Given the description of an element on the screen output the (x, y) to click on. 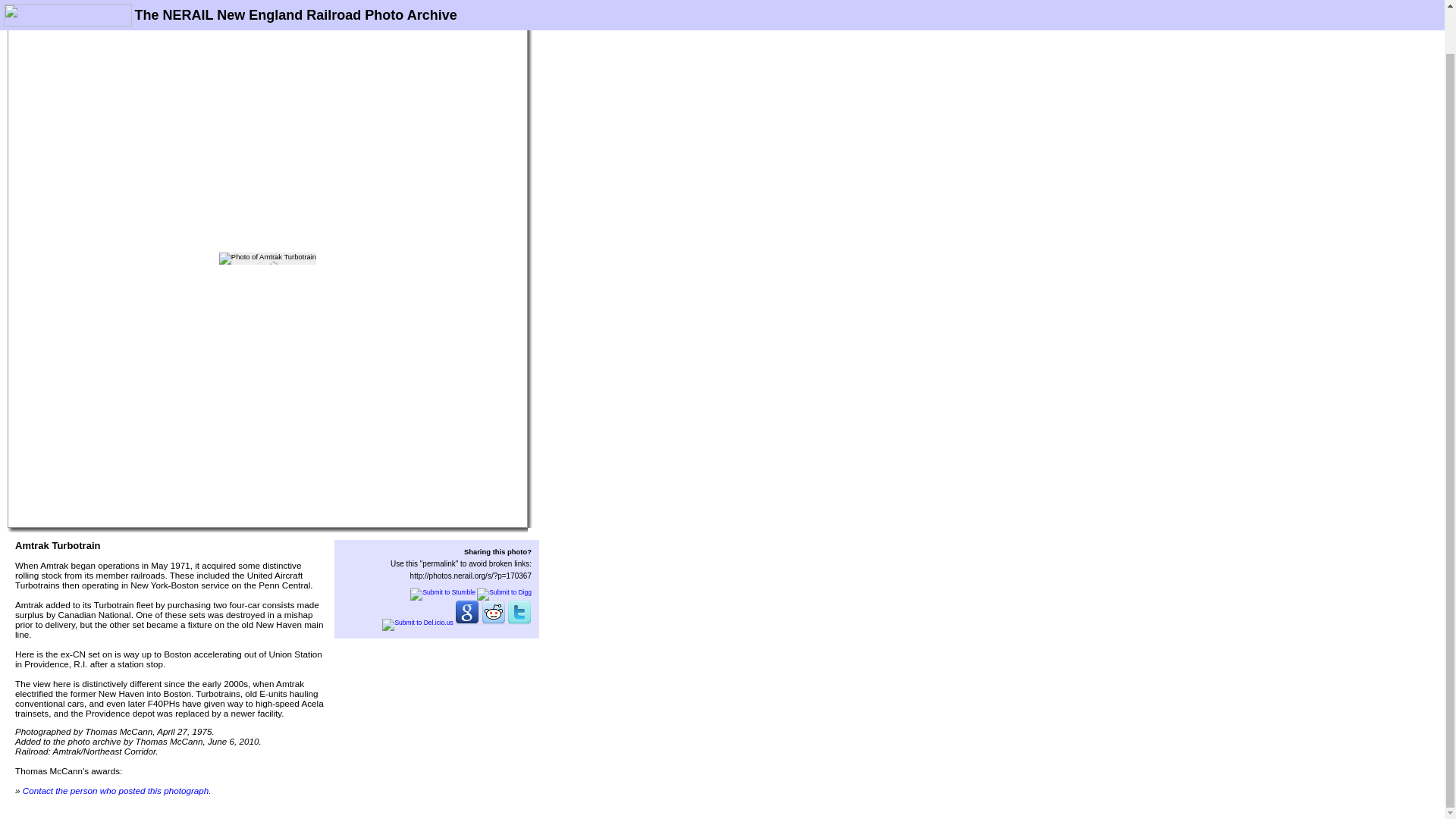
Submit to Reddit (493, 622)
Submit to Digg (504, 592)
Submit to Google Bookmarks (466, 622)
Contact the person who posted this photograph (116, 790)
Twit This (518, 622)
Submit to Del.icio.us (416, 622)
Railroad: Amtrak Turbotrain (267, 258)
Submit to Stumble (442, 592)
